Given the description of an element on the screen output the (x, y) to click on. 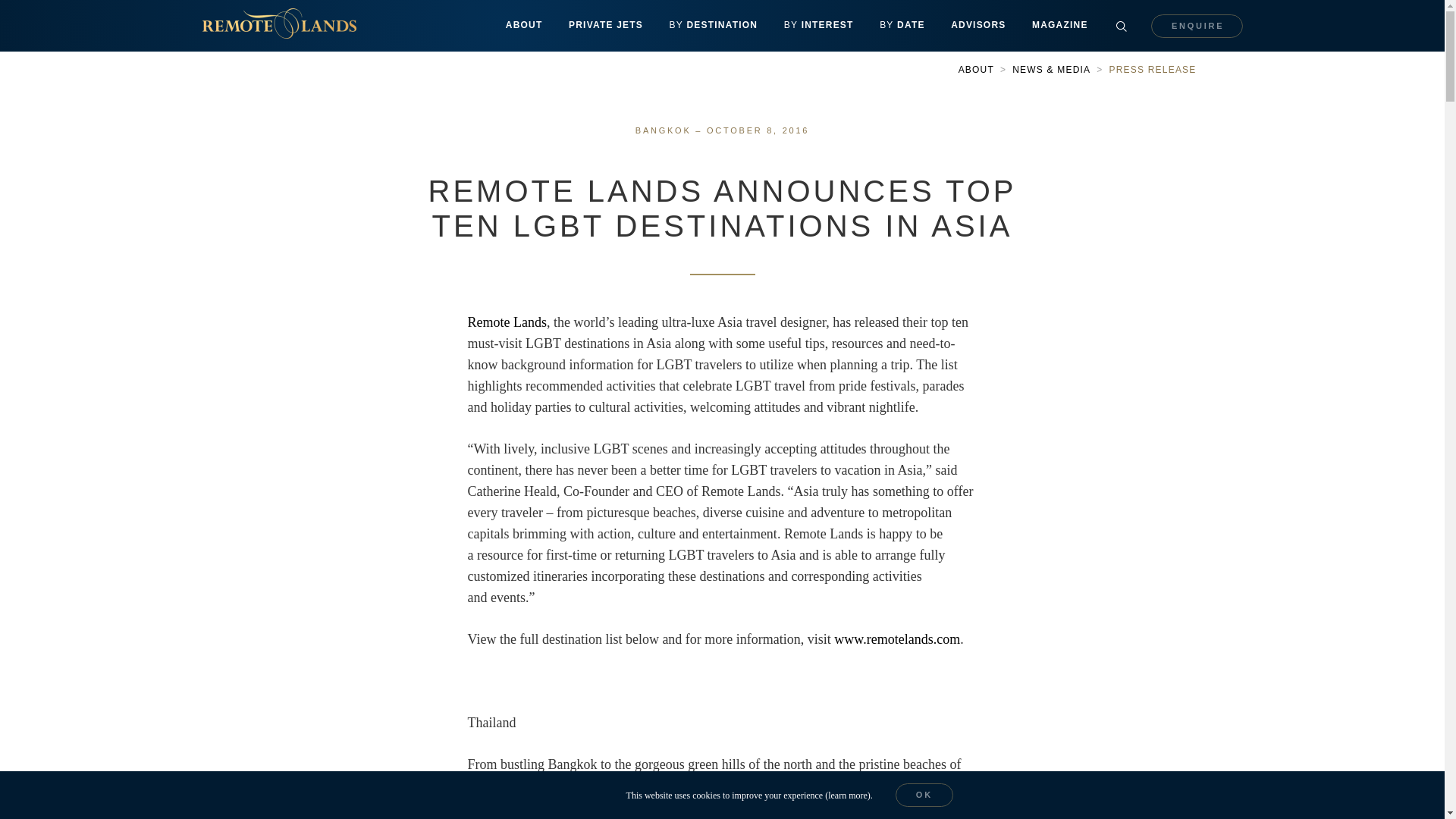
ABOUT (524, 25)
ENQUIRE (1197, 24)
PRIVATE JETS (606, 25)
BY DESTINATION (713, 25)
